Given the description of an element on the screen output the (x, y) to click on. 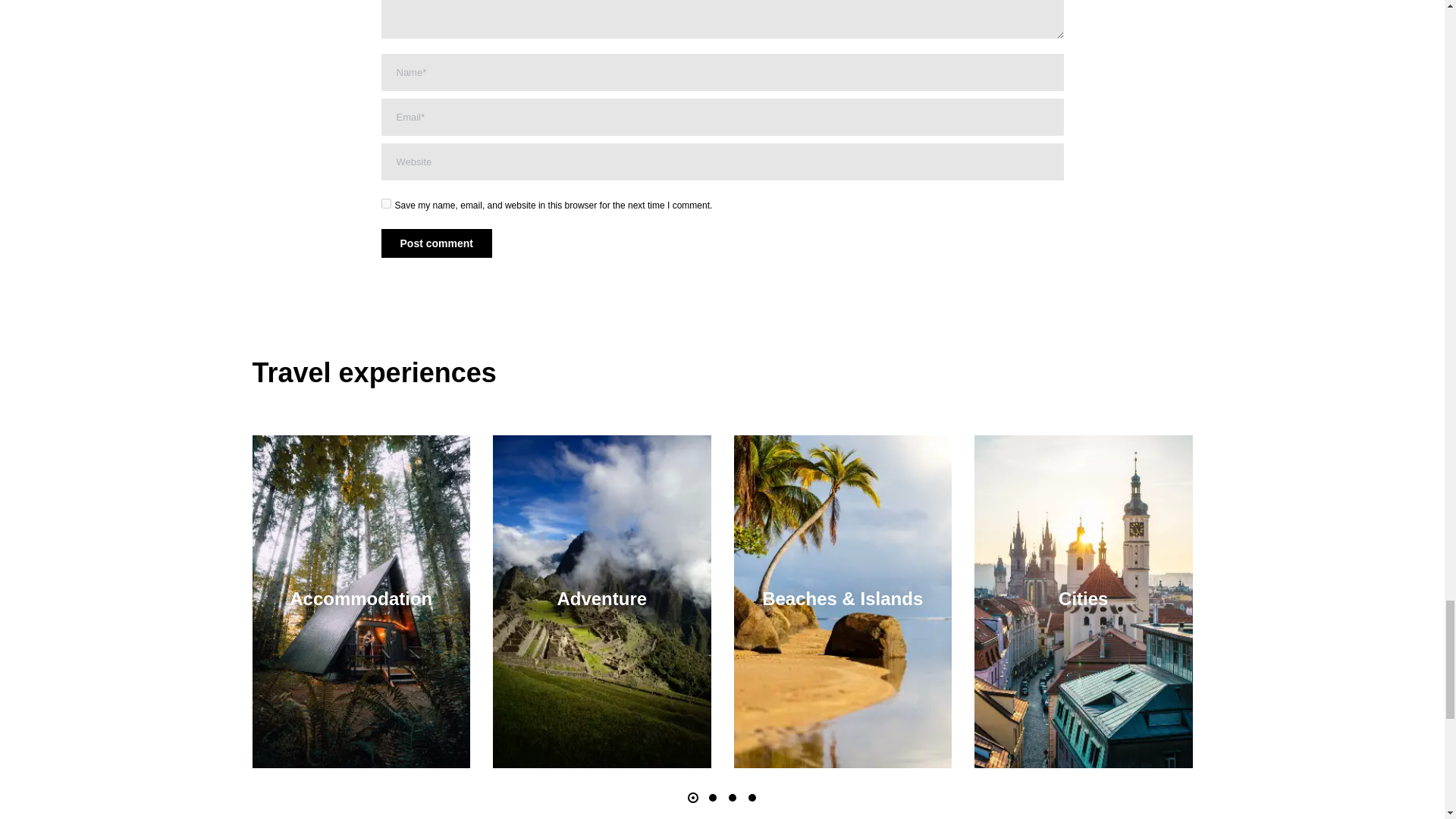
yes (385, 203)
